Given the description of an element on the screen output the (x, y) to click on. 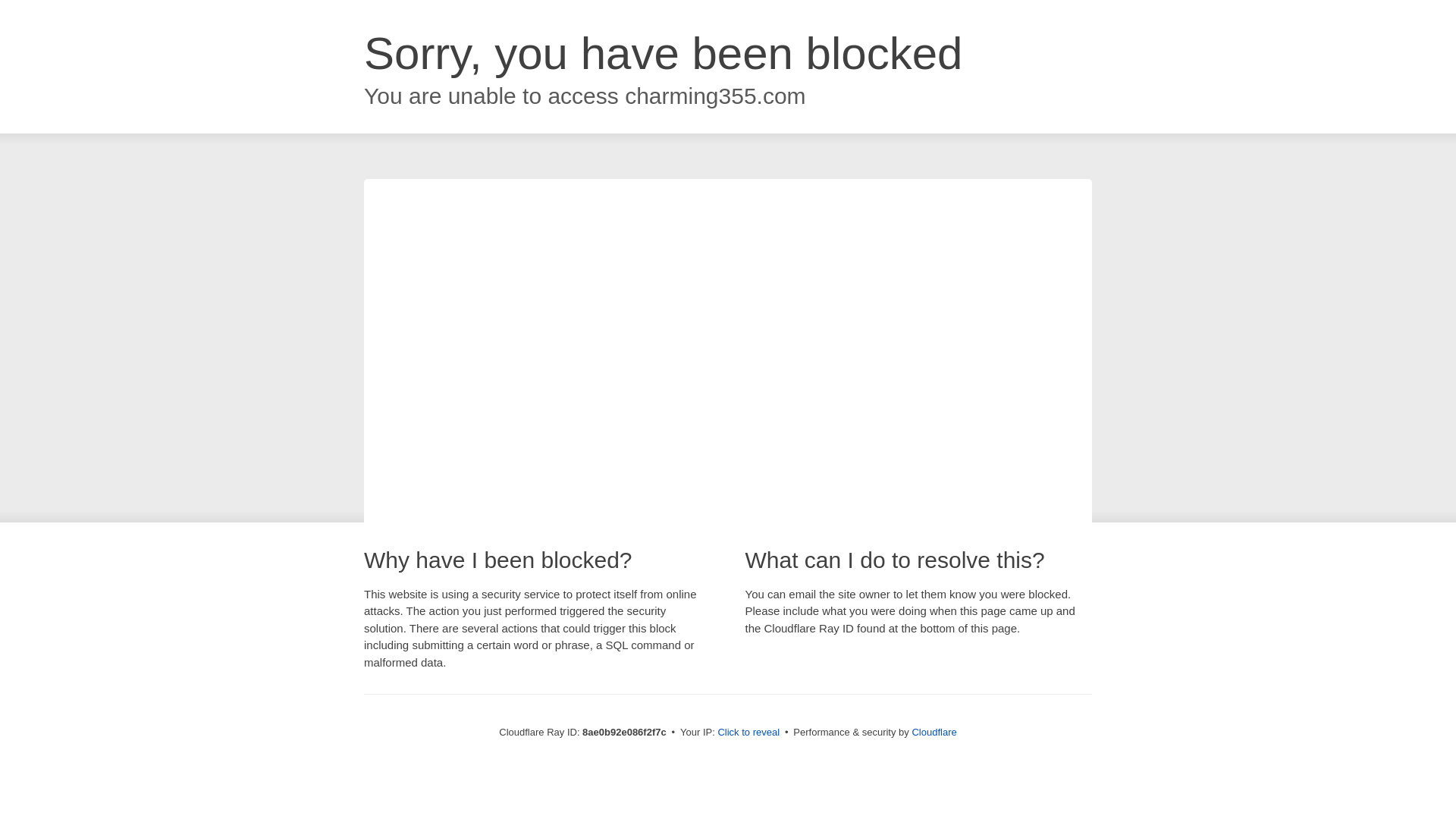
Click to reveal (747, 732)
Cloudflare (933, 731)
